Given the description of an element on the screen output the (x, y) to click on. 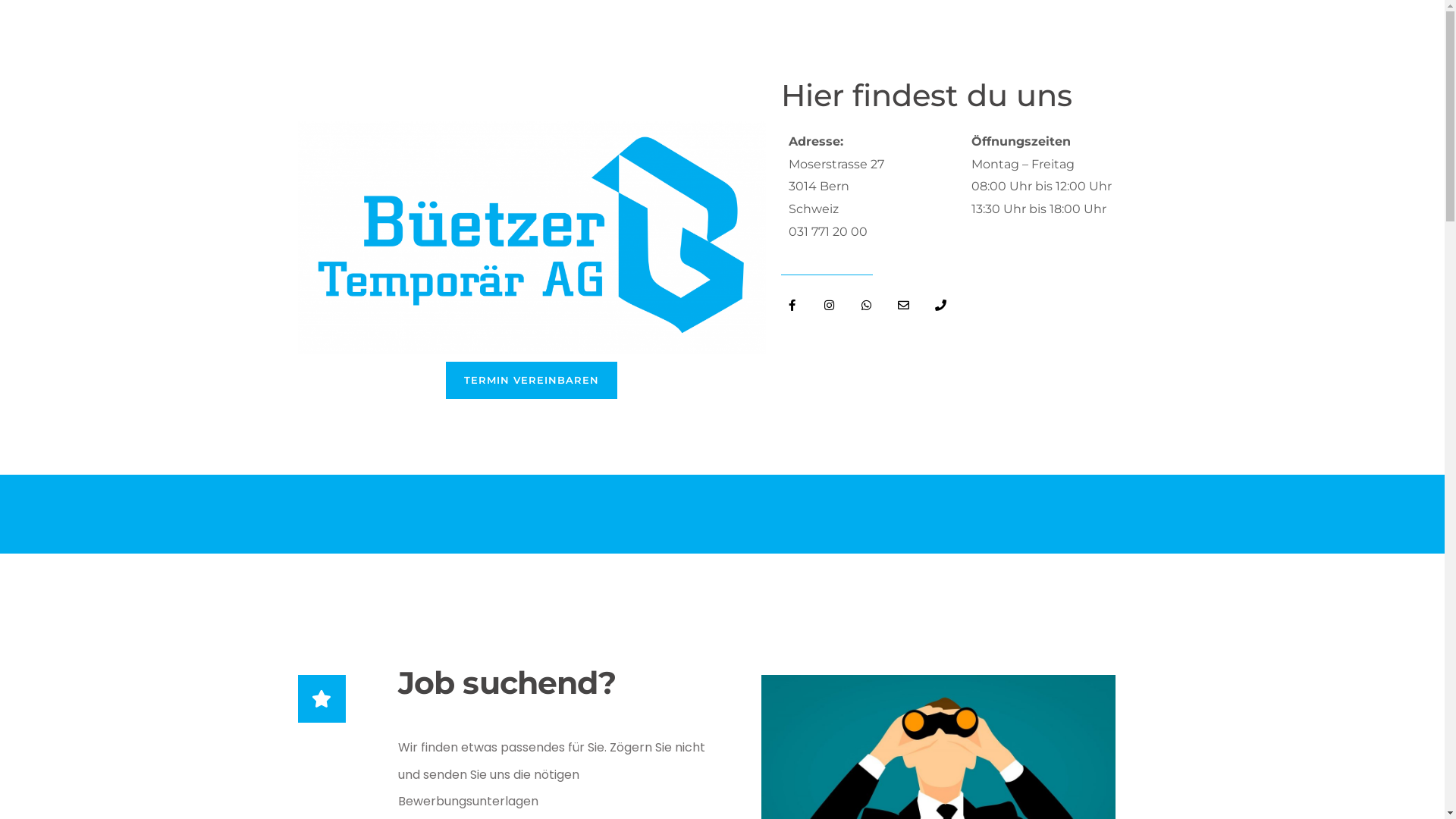
Envelope Element type: text (903, 305)
TERMIN VEREINBAREN Element type: text (531, 379)
Facebook-f Element type: text (792, 305)
Whatsapp Element type: text (866, 305)
Phone Element type: text (940, 305)
Instagram Element type: text (829, 305)
